Given the description of an element on the screen output the (x, y) to click on. 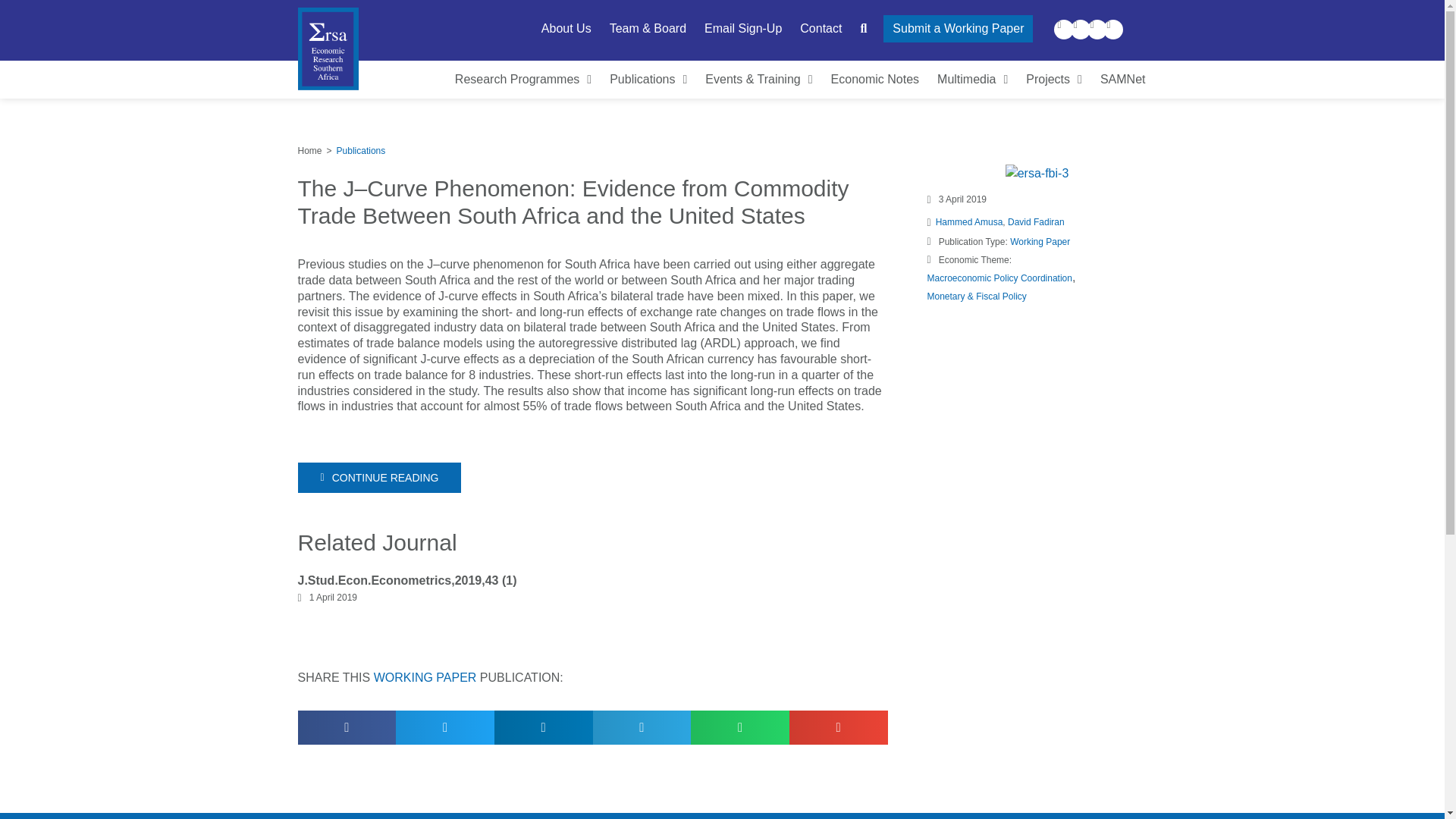
Projects (1053, 79)
Multimedia (972, 79)
Research Programmes (522, 79)
Economic Notes (875, 79)
Submit a Working Paper (957, 28)
Email Sign-Up (742, 28)
Contact (820, 28)
About Us (565, 28)
ersa-fbi-3 (1037, 173)
Publications (647, 79)
